Given the description of an element on the screen output the (x, y) to click on. 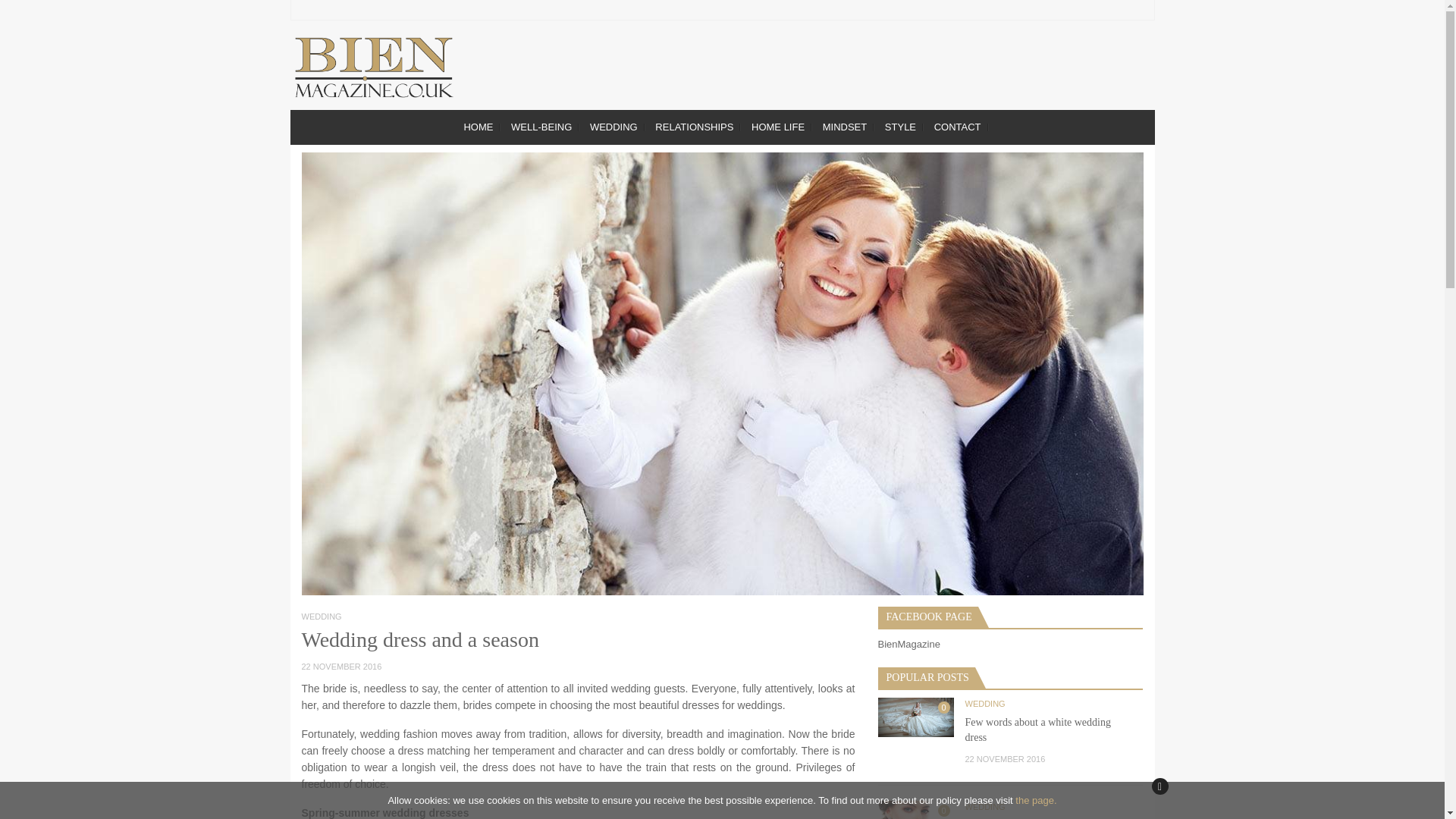
WEDDING (613, 126)
Few words about a white wedding dress (1036, 729)
HOME LIFE (778, 126)
Advice on dresses and jewellery for weddings (915, 809)
WEDDING (321, 615)
HOME (477, 126)
WELL-BEING (541, 126)
CONTACT (957, 126)
